Given the description of an element on the screen output the (x, y) to click on. 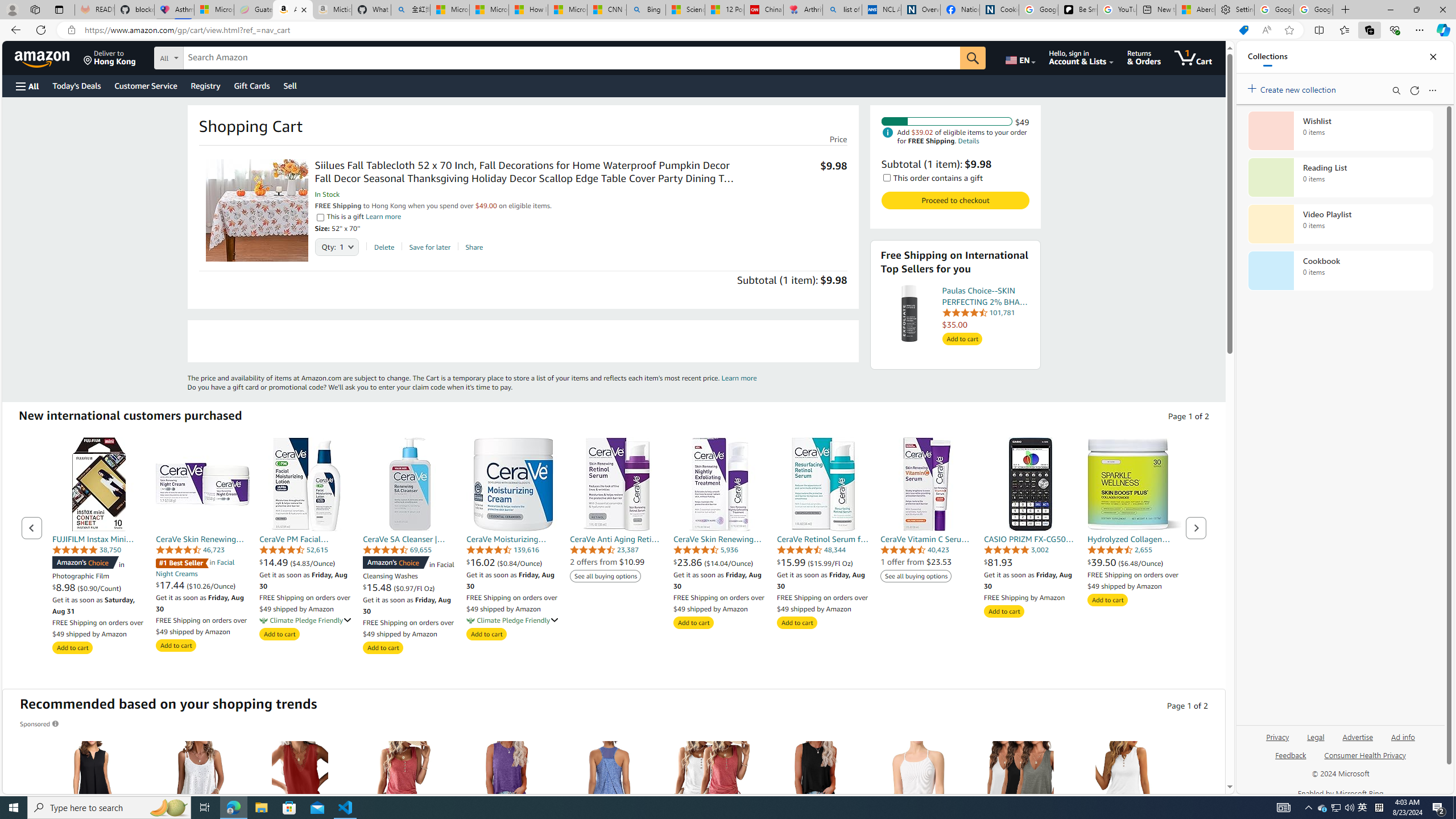
Qty: Quantity (336, 243)
$16.02  (481, 562)
